Given the description of an element on the screen output the (x, y) to click on. 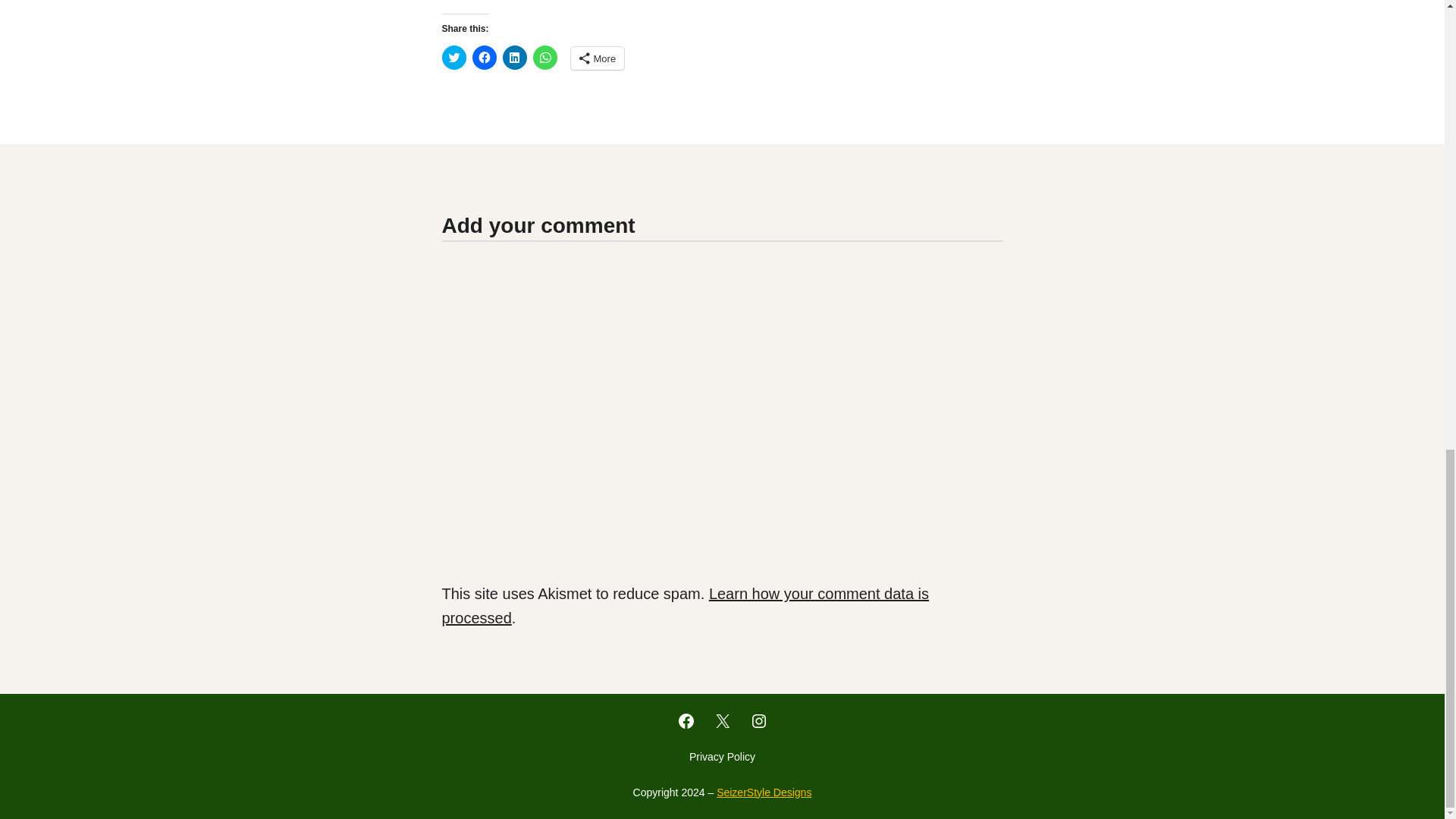
Click to share on Facebook (483, 57)
SeizerStyle Designs (763, 792)
Learn how your comment data is processed (684, 605)
Instagram (758, 720)
Click to share on Twitter (453, 57)
Click to share on WhatsApp (544, 57)
Facebook (685, 720)
X (721, 720)
More (597, 57)
